Given the description of an element on the screen output the (x, y) to click on. 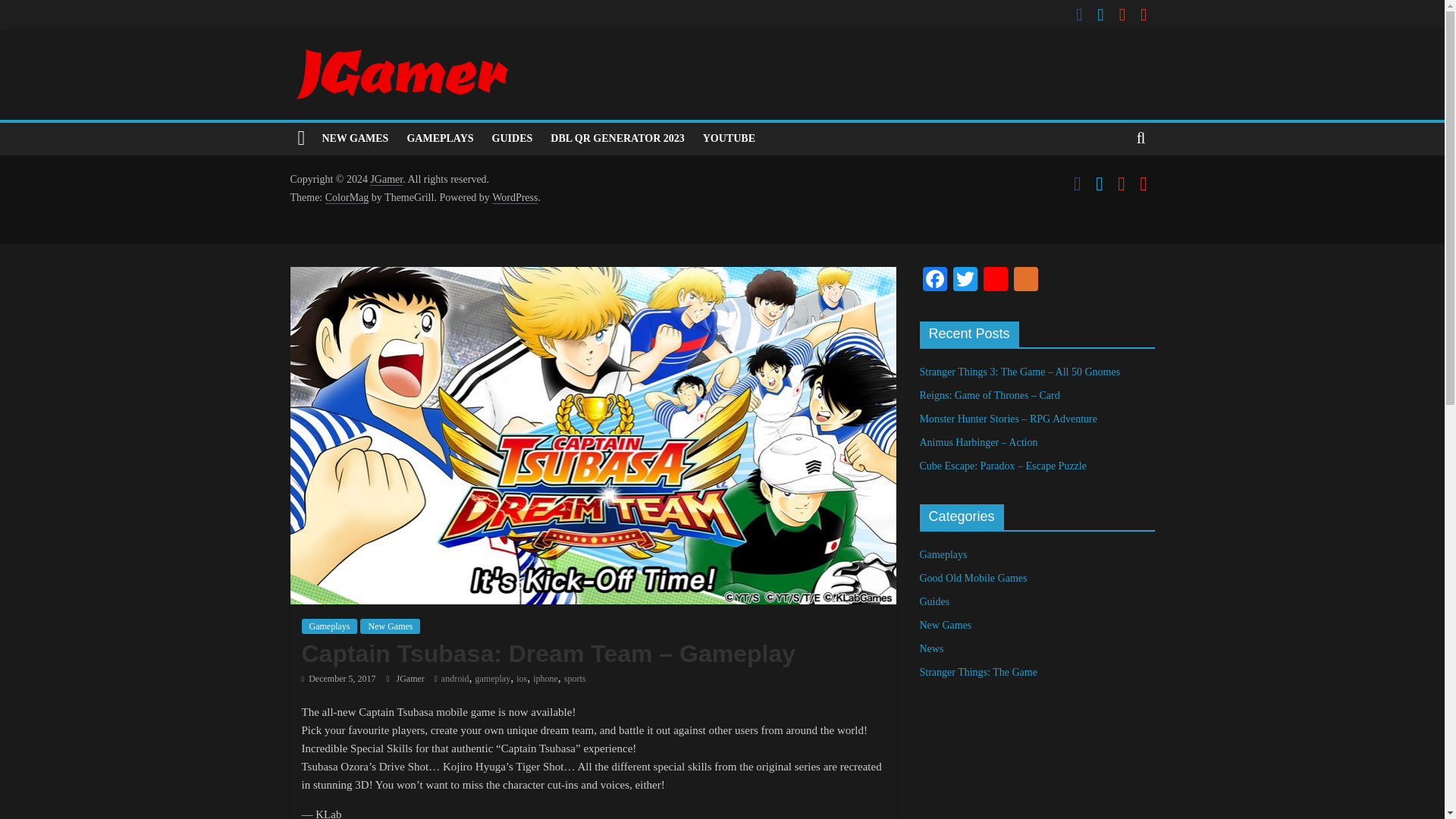
ios (521, 678)
GAMEPLAYS (439, 138)
Gameplays (329, 626)
DBL QR GENERATOR 2023 (617, 138)
gameplay (493, 678)
JGamer (411, 678)
New Games (389, 626)
December 5, 2017 (338, 678)
12:37 pm (338, 678)
iphone (544, 678)
